Given the description of an element on the screen output the (x, y) to click on. 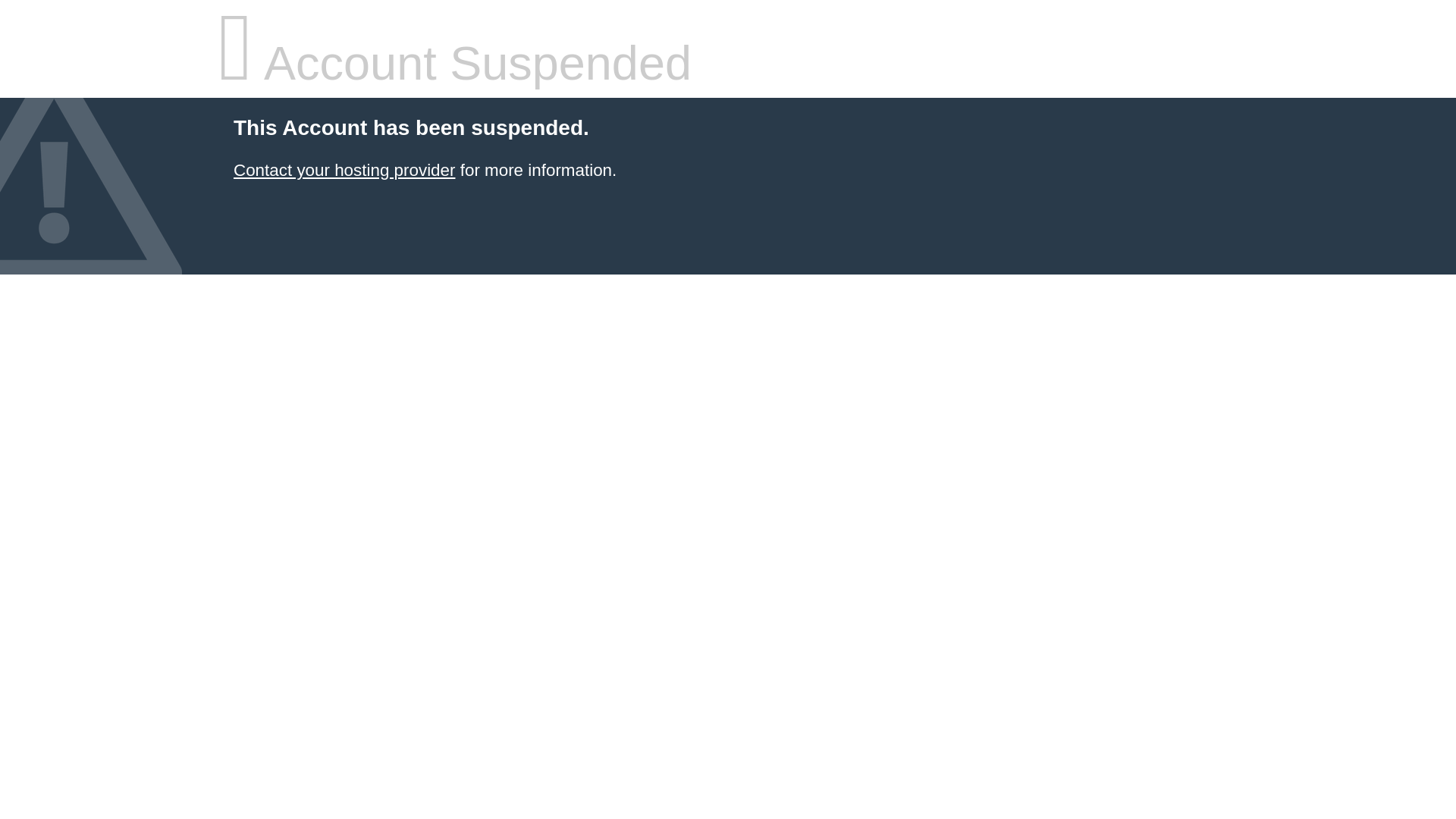
Contact your hosting provider (343, 169)
Git Perfect (343, 169)
